Given the description of an element on the screen output the (x, y) to click on. 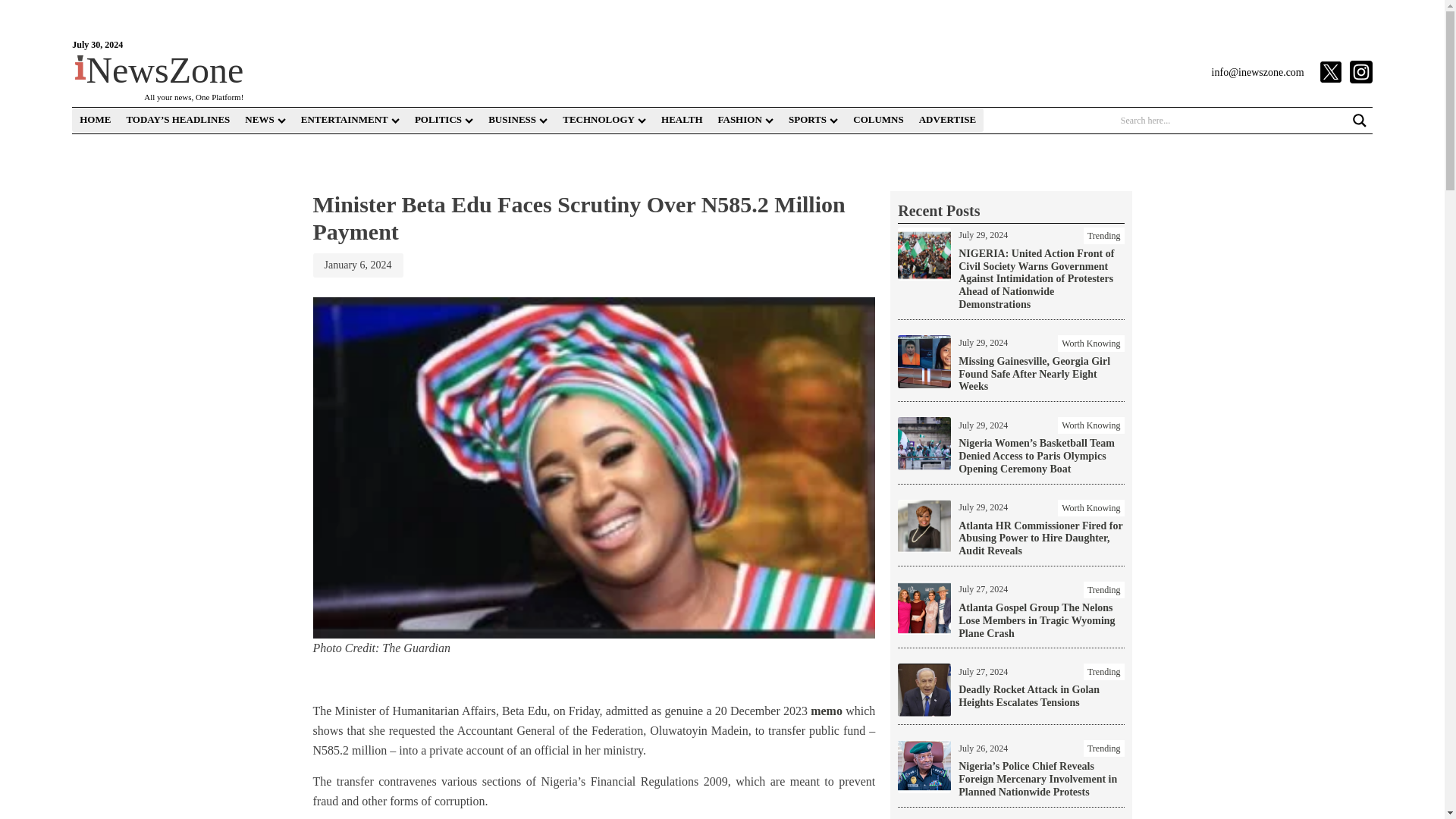
NewsZone (159, 70)
ENTERTAINMENT (350, 119)
NEWS (264, 119)
HOME (94, 119)
